Given the description of an element on the screen output the (x, y) to click on. 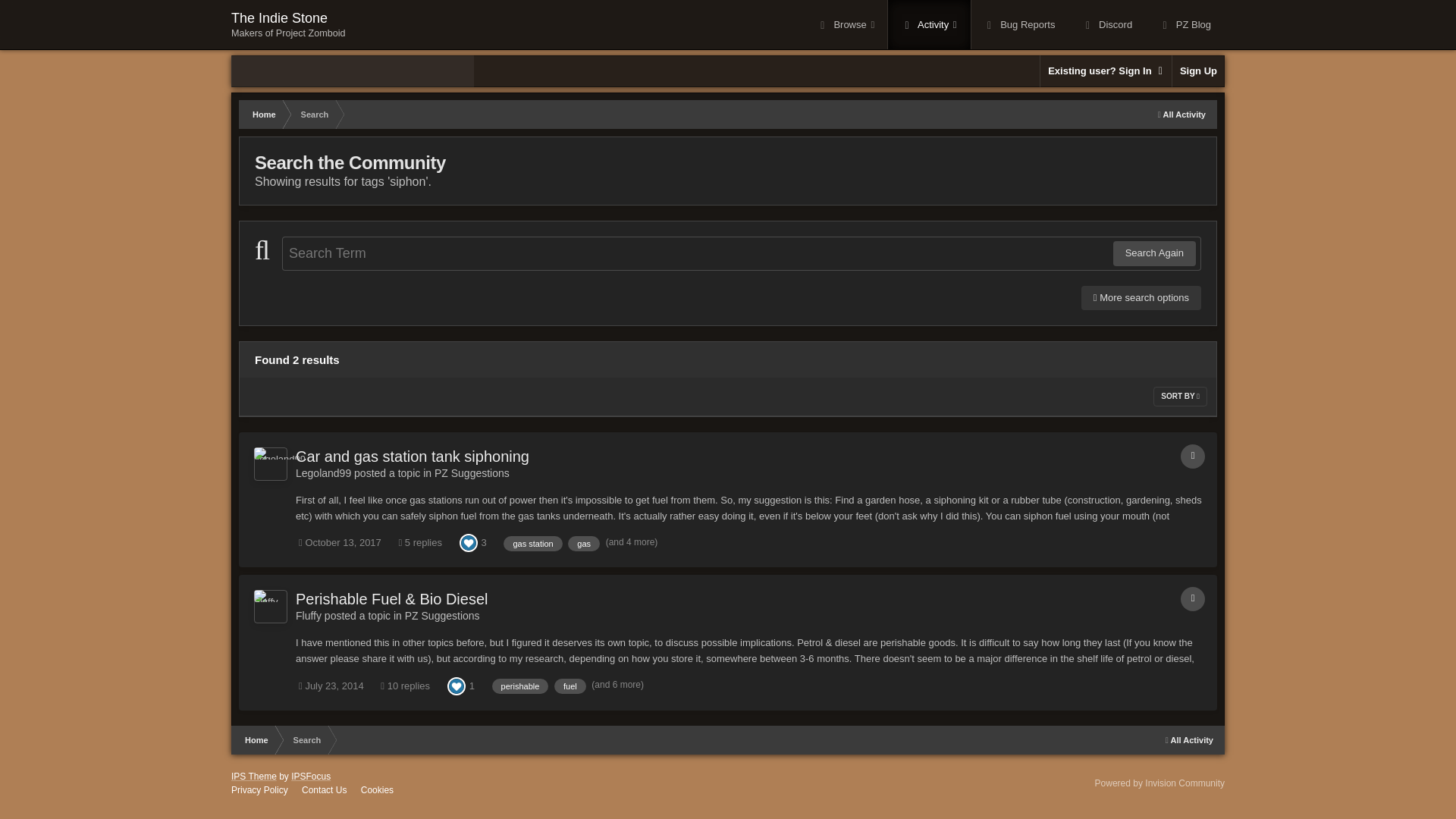
More search options (1141, 297)
Go to Legoland99's profile (322, 472)
Find other content tagged with 'gas station' (532, 543)
Browse (845, 24)
PZ Blog (1184, 24)
All Activity (288, 24)
Find other content tagged with 'gas' (1182, 113)
See who reacted "Like" (583, 543)
Go to Fluffy's profile (468, 542)
